Given the description of an element on the screen output the (x, y) to click on. 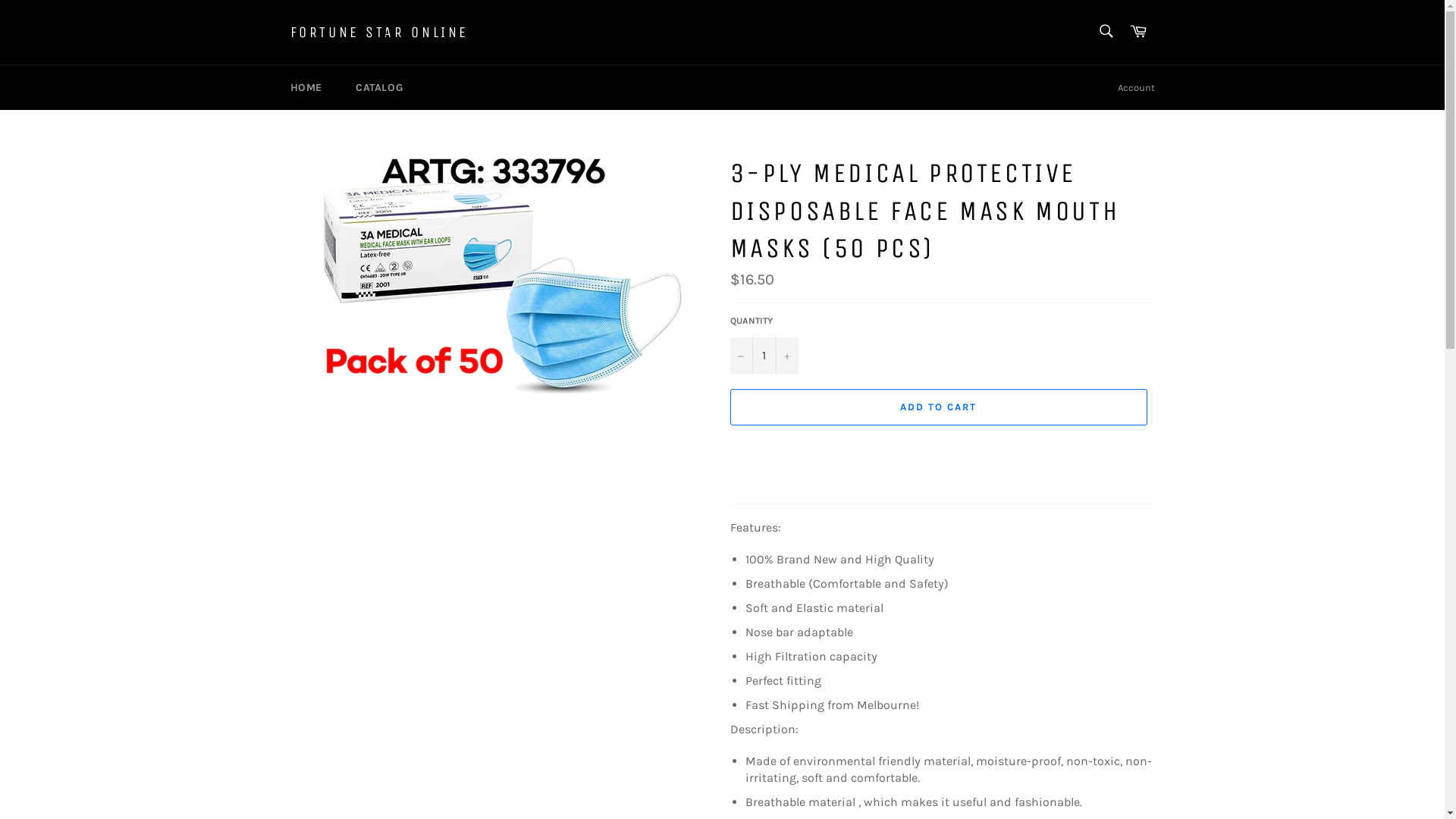
Search Element type: text (1105, 31)
+ Element type: text (786, 355)
ADD TO CART Element type: text (937, 407)
FORTUNE STAR ONLINE Element type: text (378, 32)
CATALOG Element type: text (378, 87)
Cart Element type: text (1138, 32)
Account Element type: text (1136, 87)
HOME Element type: text (305, 87)
